Given the description of an element on the screen output the (x, y) to click on. 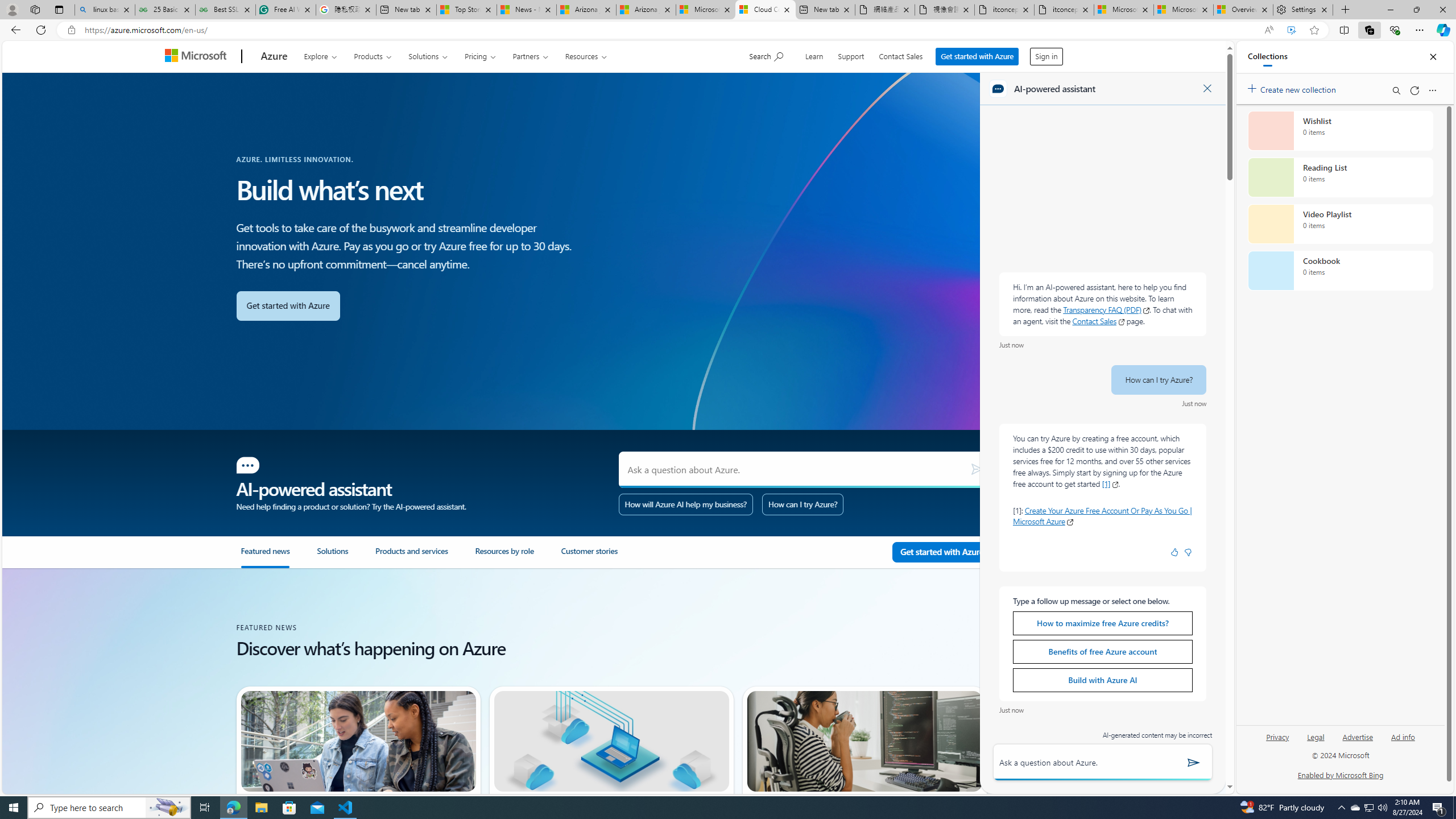
Learn (813, 54)
How can I try Azure? (802, 504)
Contact Sales (900, 54)
Products and services (411, 555)
Positive feedback badge icon (1174, 552)
Get started with Pay as you go using Azure (941, 552)
Benefits of free Azure account (1102, 651)
Enhance video (1291, 29)
Support (850, 54)
Wishlist collection, 0 items (1339, 130)
Learn (814, 54)
